Given the description of an element on the screen output the (x, y) to click on. 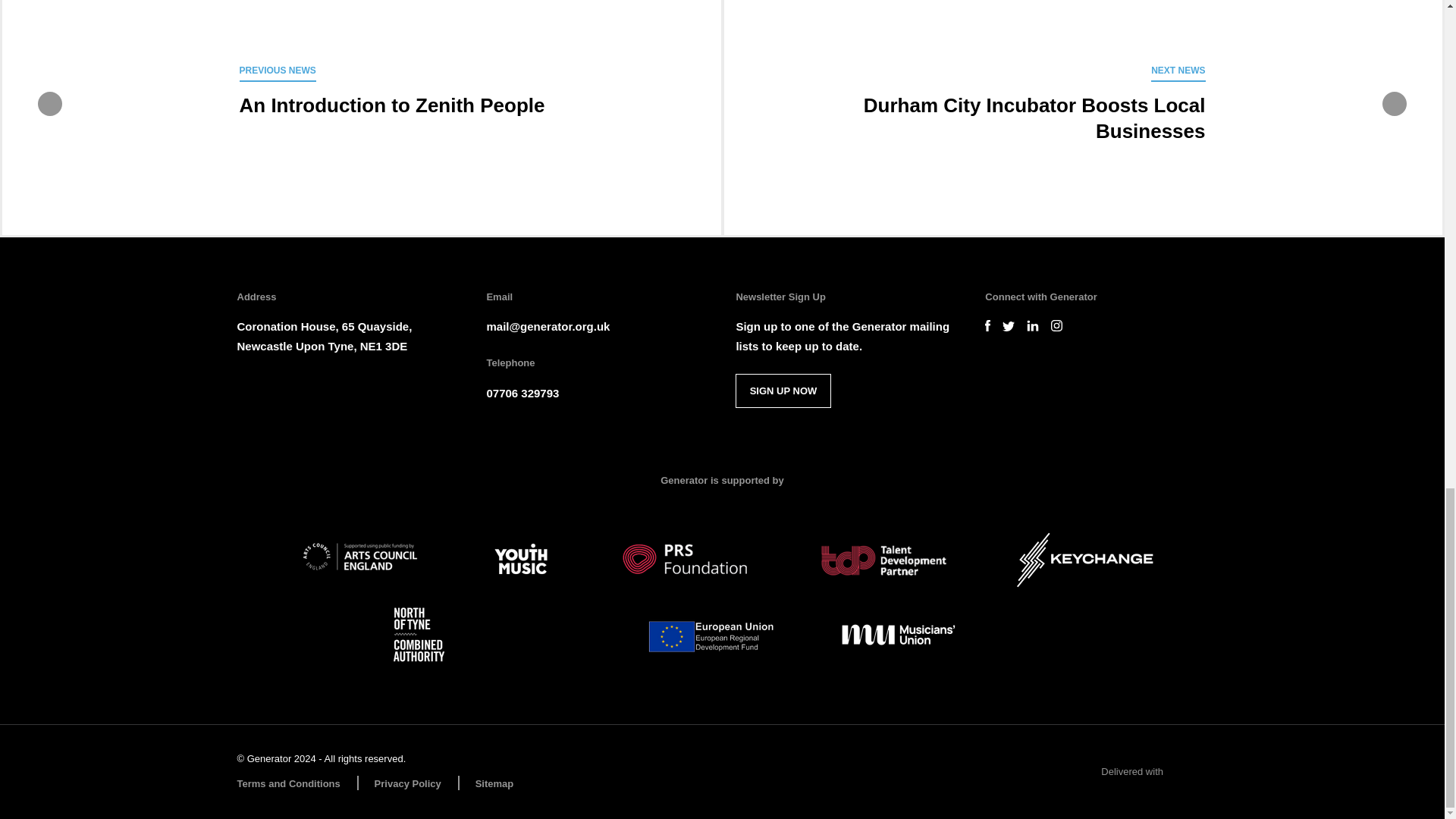
SIGN UP NOW (782, 390)
